Given the description of an element on the screen output the (x, y) to click on. 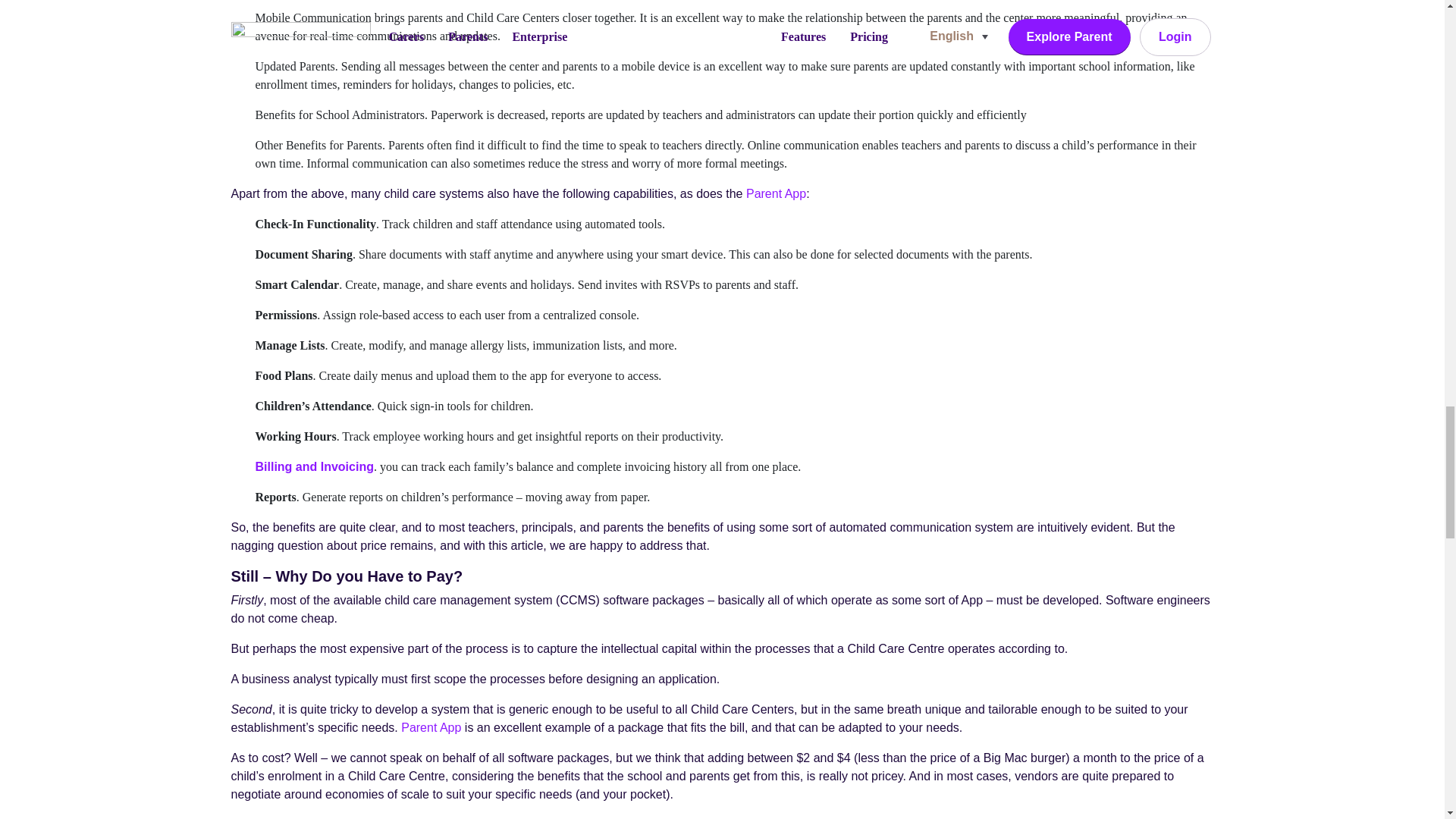
Parent App (431, 727)
Parent App (775, 193)
Billing and Invoicing (313, 466)
